Given the description of an element on the screen output the (x, y) to click on. 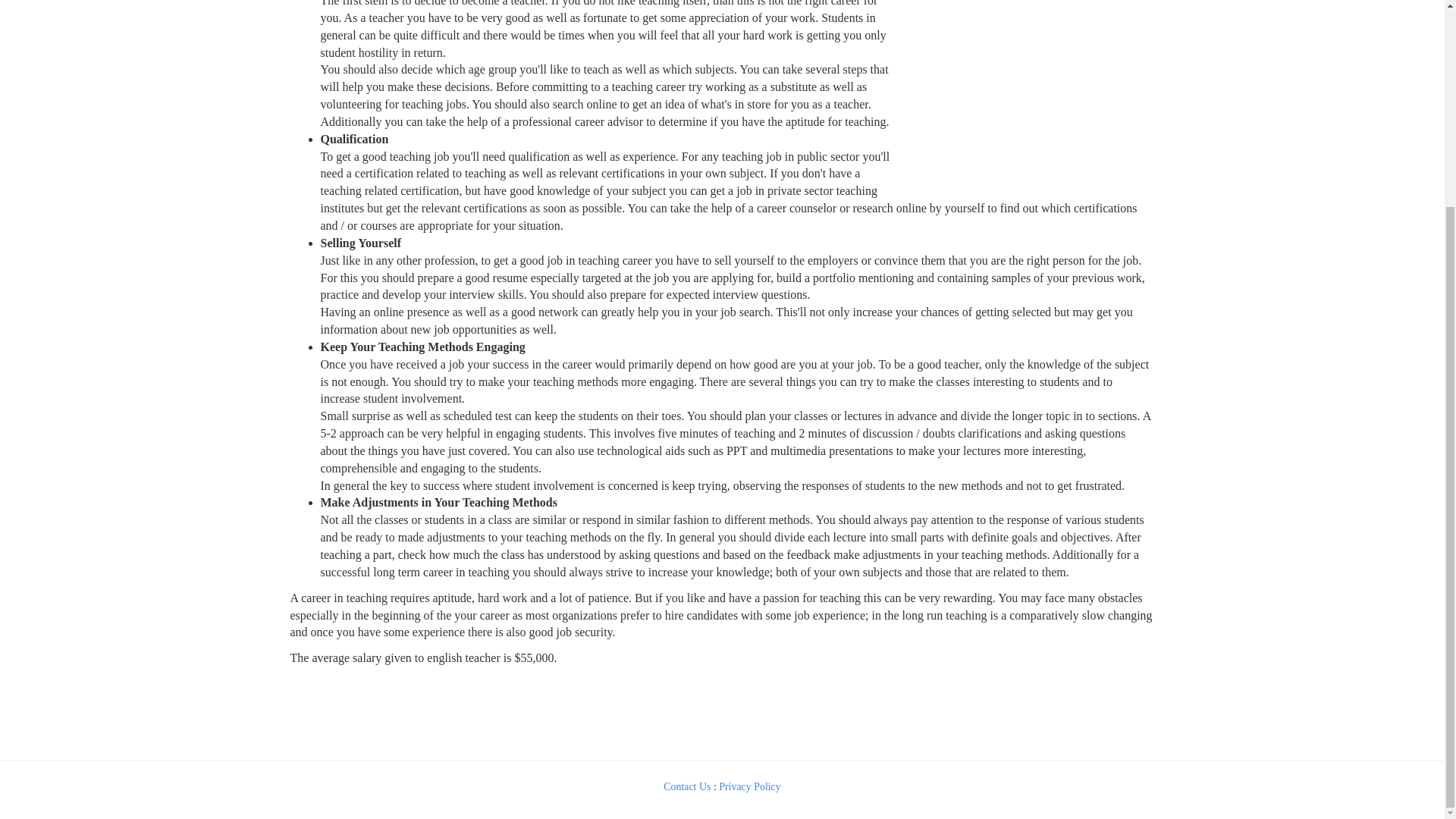
Privacy Policy (749, 786)
Contact Us (686, 786)
